Given the description of an element on the screen output the (x, y) to click on. 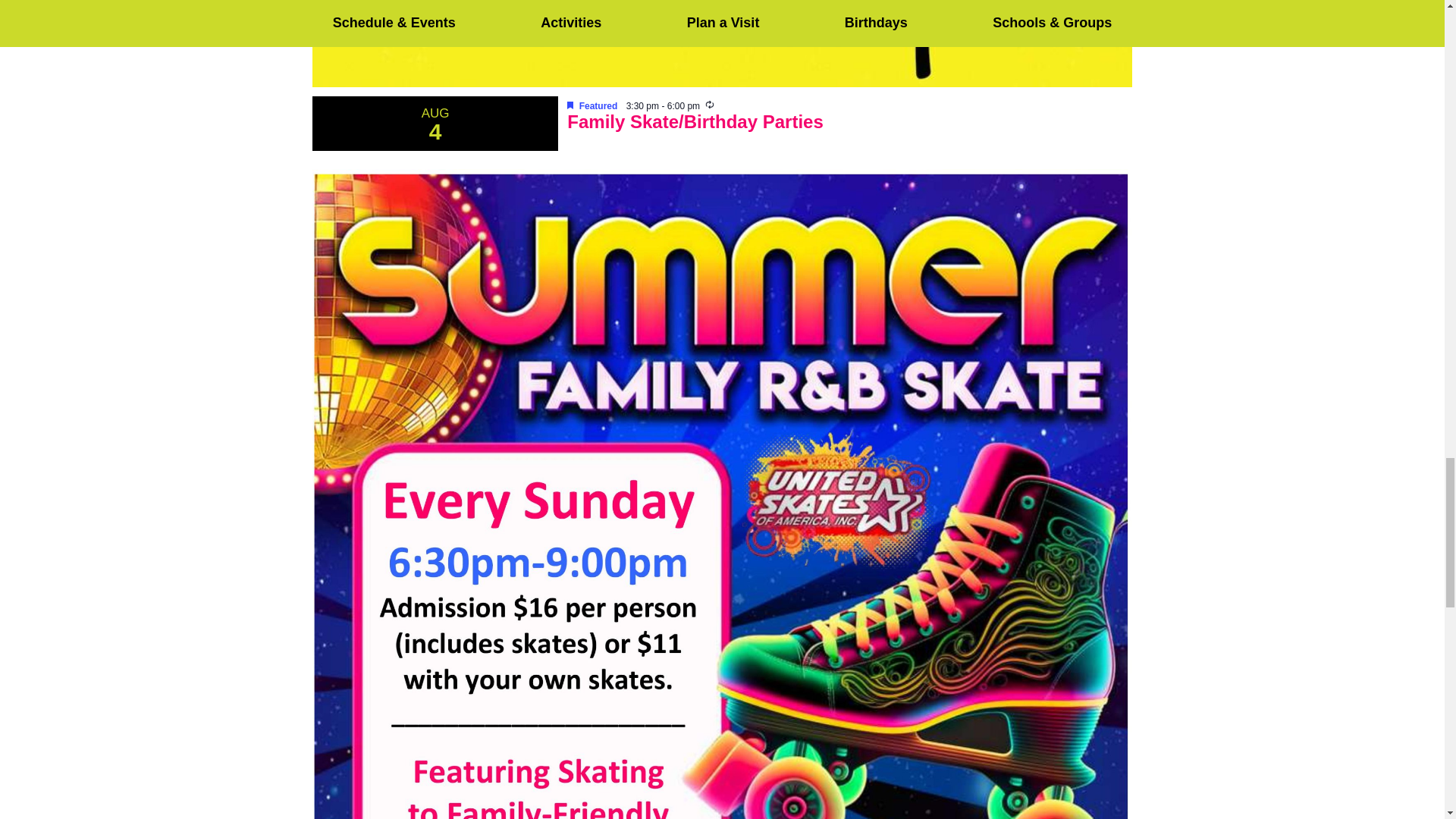
Recurring (709, 103)
